Given the description of an element on the screen output the (x, y) to click on. 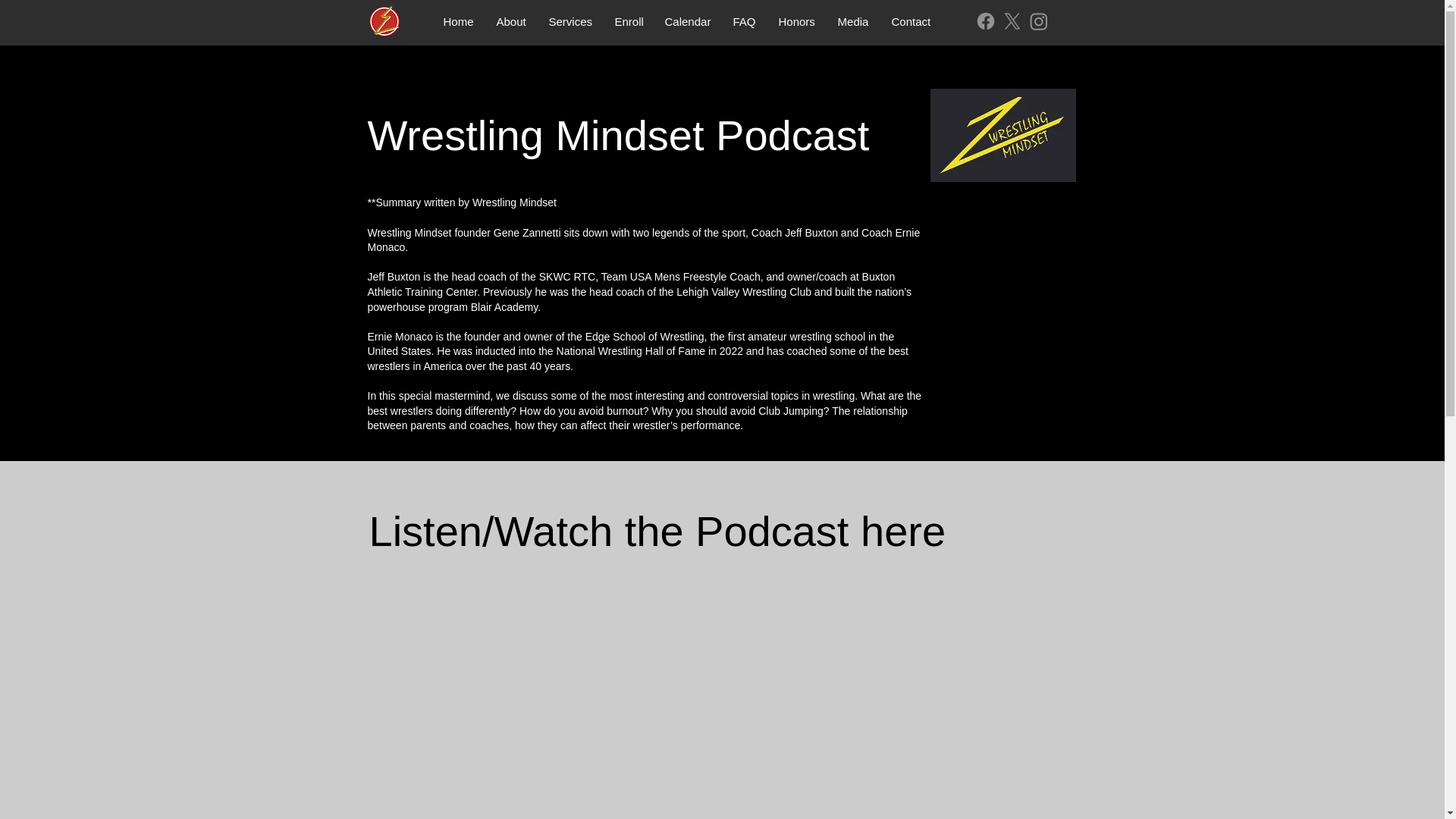
About (510, 21)
FAQ (744, 21)
Home (458, 21)
Honors (797, 21)
